Given the description of an element on the screen output the (x, y) to click on. 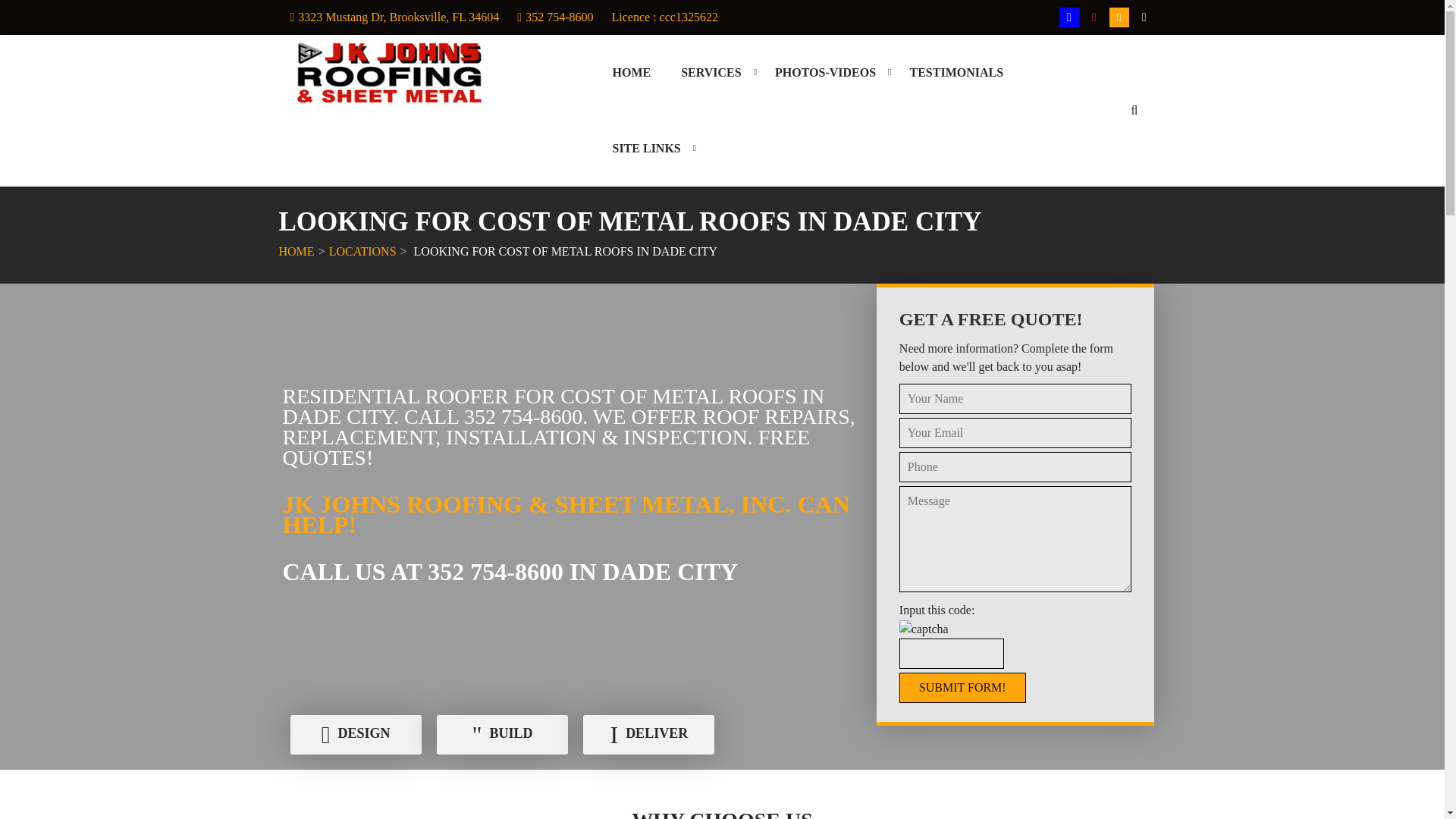
Photos-Videos (825, 72)
Services (710, 72)
PHOTOS-VIDEOS (825, 72)
LOCATIONS (362, 250)
Home (630, 72)
SITE LINKS (645, 148)
HOME (630, 72)
SERVICES (710, 72)
352 754-8600 (558, 16)
HOME (296, 250)
